Given the description of an element on the screen output the (x, y) to click on. 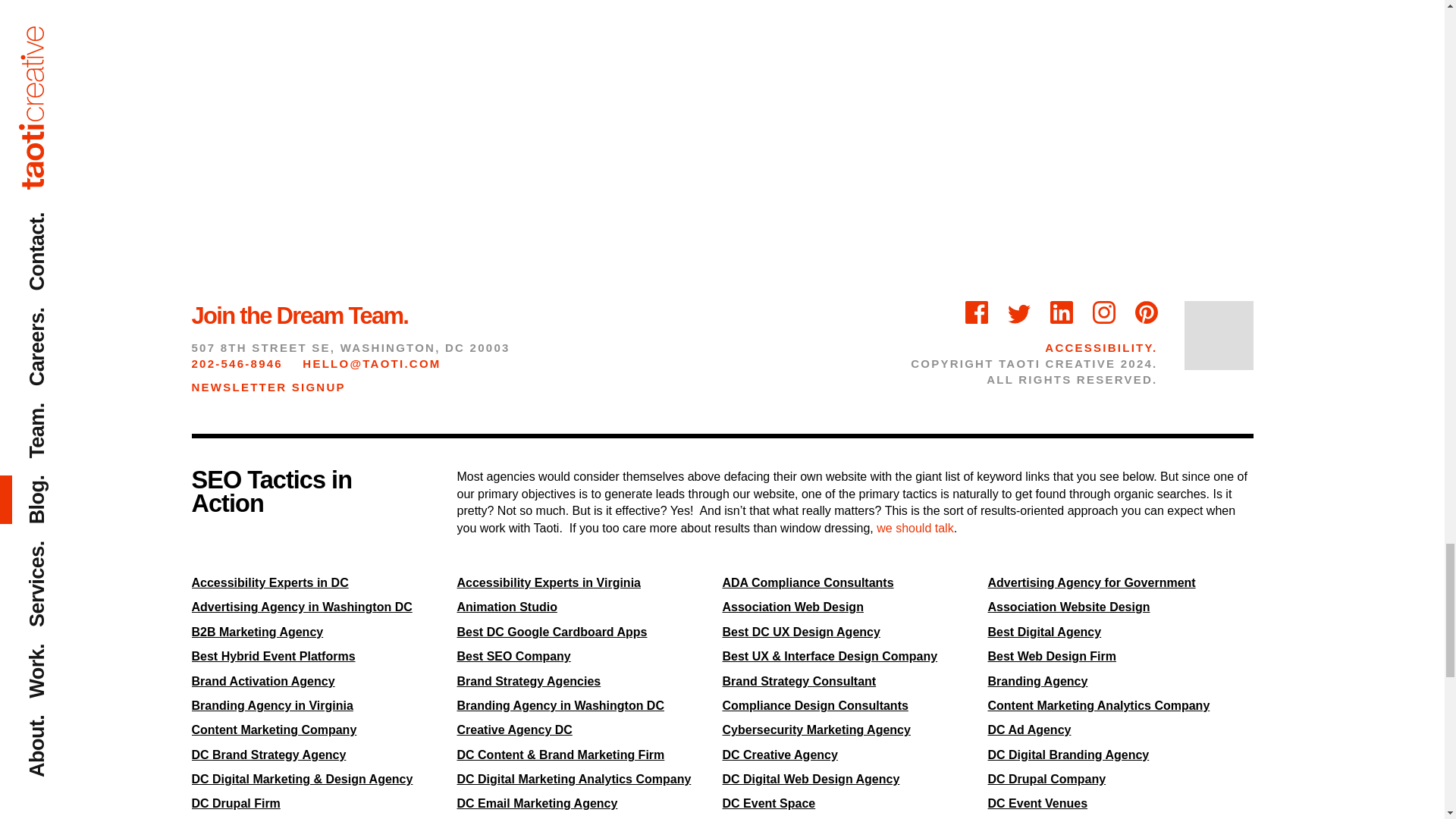
Pinterest icon (1145, 312)
Pinterest icon (1145, 312)
Accessibility Experts in DC (268, 582)
Instagram icon (1104, 312)
Twitter icon (1018, 315)
LinkedIn icon (1061, 312)
ACCESSIBILITY. (1101, 347)
LinkedIn icon (1061, 312)
Facebook icon (976, 312)
NEWSLETTER SIGNUP (267, 386)
Instagram icon (1104, 312)
we should talk (914, 527)
Advertising Agency for Government (1091, 582)
202-546-8946 (236, 363)
Twitter icon (1018, 313)
